Given the description of an element on the screen output the (x, y) to click on. 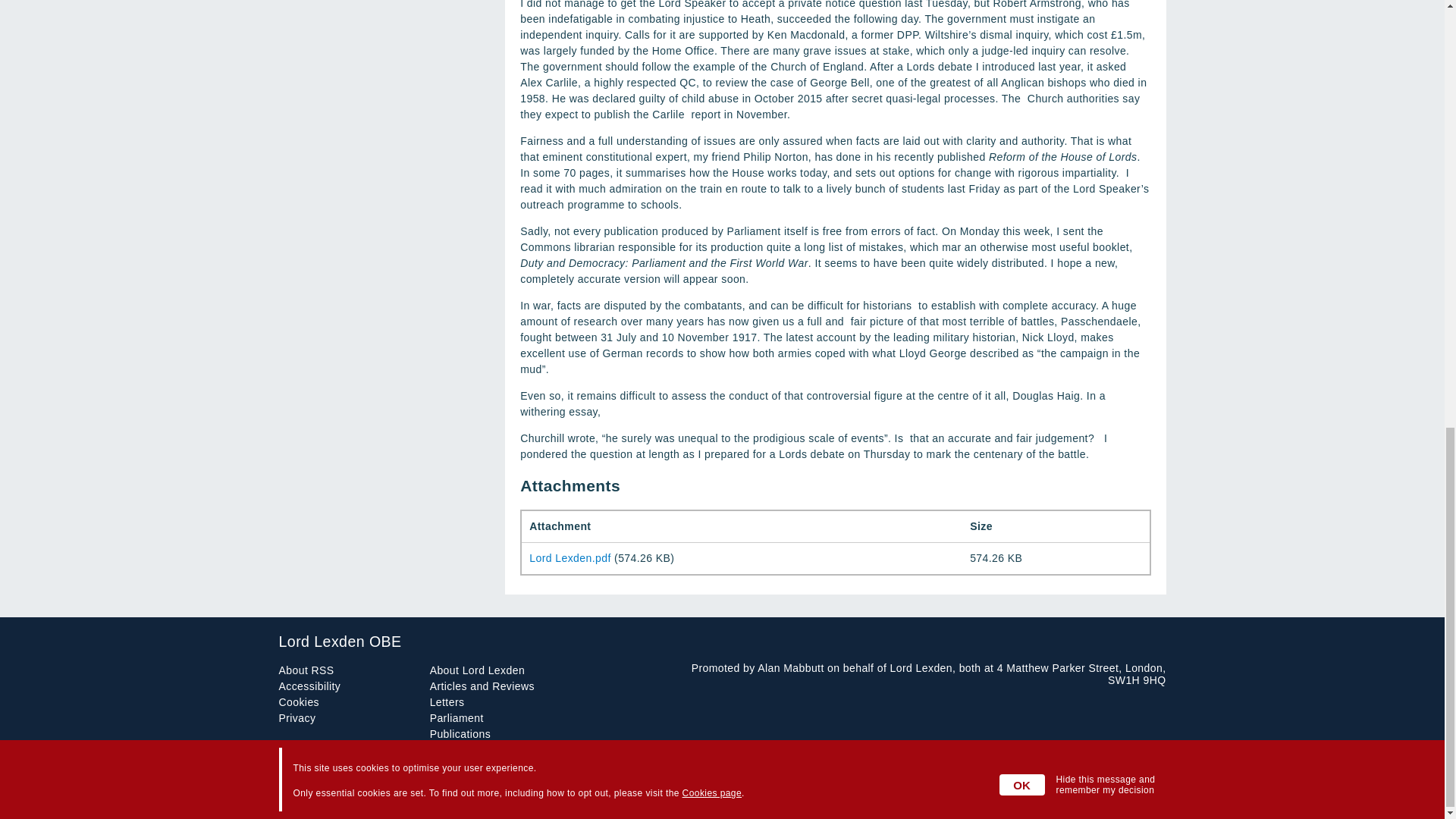
Lord Lexden.pdf (570, 558)
About RSS (306, 670)
Accessibility (309, 686)
Cookies (299, 702)
Publications (460, 734)
Articles and Reviews (481, 686)
Privacy (297, 717)
Letters (446, 702)
Lord Lexden OBE (722, 641)
Parliament (456, 717)
Bluetree (1145, 793)
About Lord Lexden (476, 670)
